Given the description of an element on the screen output the (x, y) to click on. 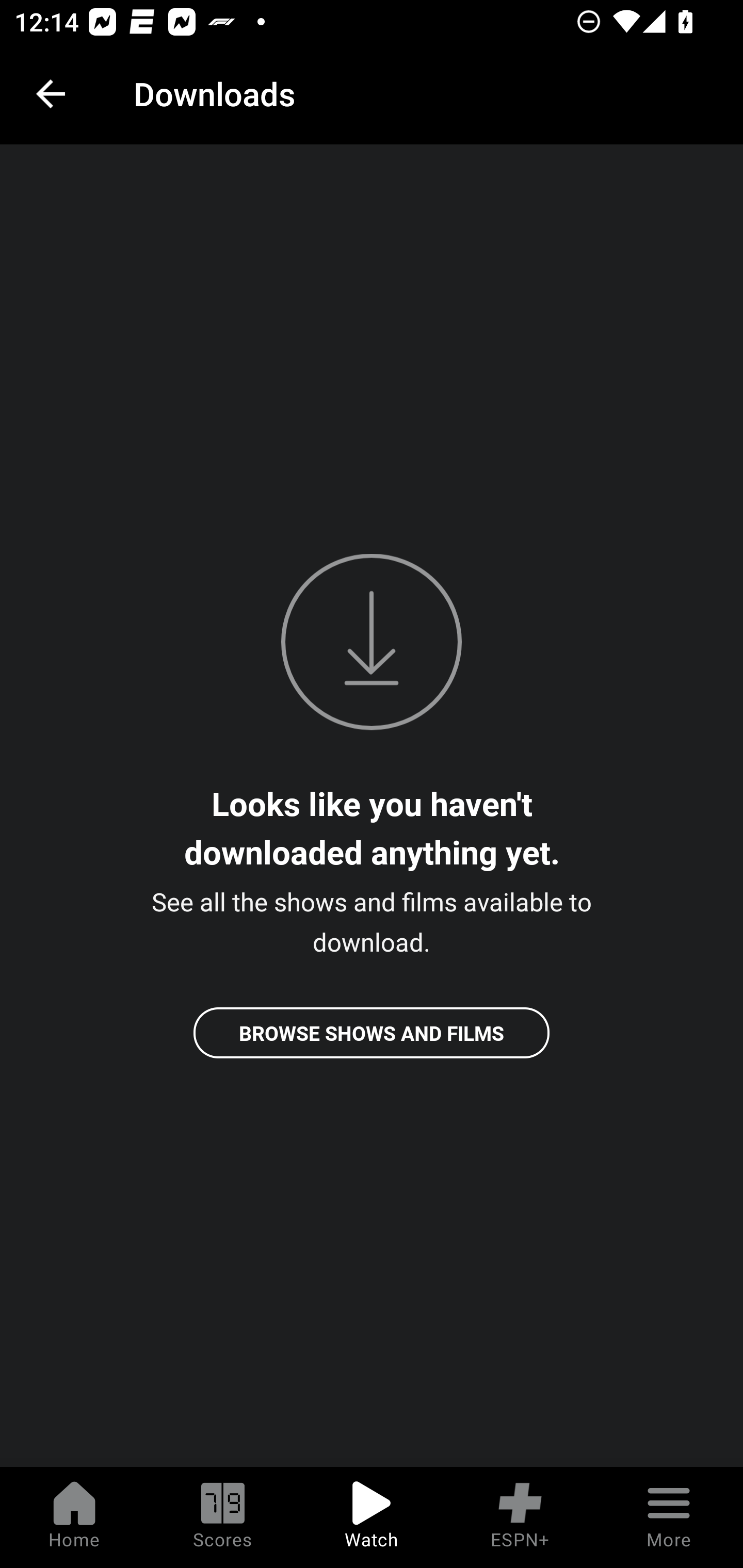
BROWSE SHOWS AND FILMS (371, 1032)
Home (74, 1517)
Scores (222, 1517)
ESPN+ (519, 1517)
More (668, 1517)
